Given the description of an element on the screen output the (x, y) to click on. 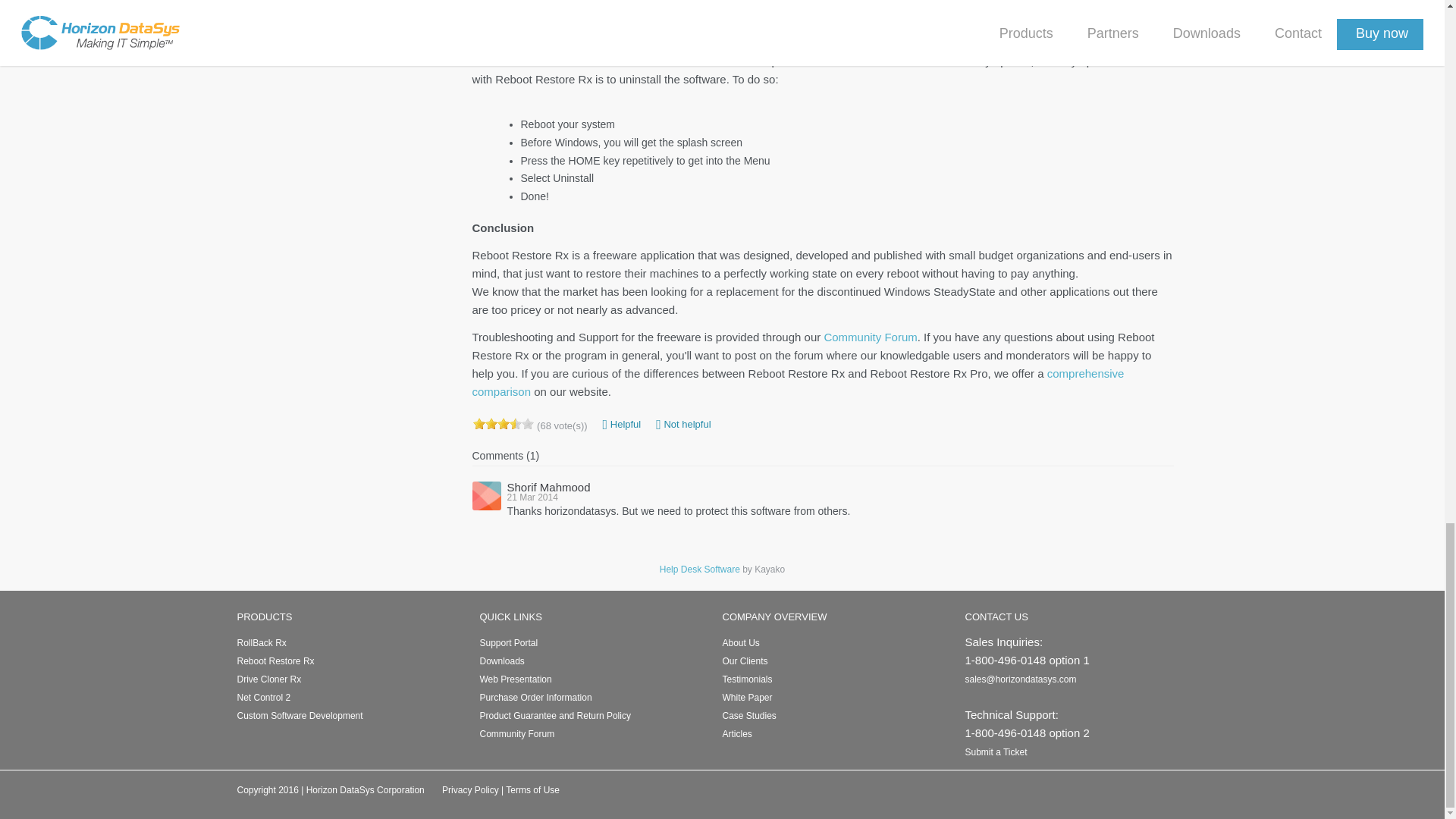
Purchase Order Information (535, 697)
Reboot Restore Rx (274, 661)
comprehensive comparison (797, 382)
Help Desk Software (699, 569)
Custom Software Development (298, 715)
Product Guarantee and Return Policy (554, 715)
Community Forum (870, 336)
Support Portal (508, 643)
Community Forum (516, 733)
3.5 out of 5 stars (502, 423)
Drive Cloner Rx (268, 679)
Web Presentation (515, 679)
Net Control 2 (262, 697)
Downloads (501, 661)
RollBack Rx (260, 643)
